Given the description of an element on the screen output the (x, y) to click on. 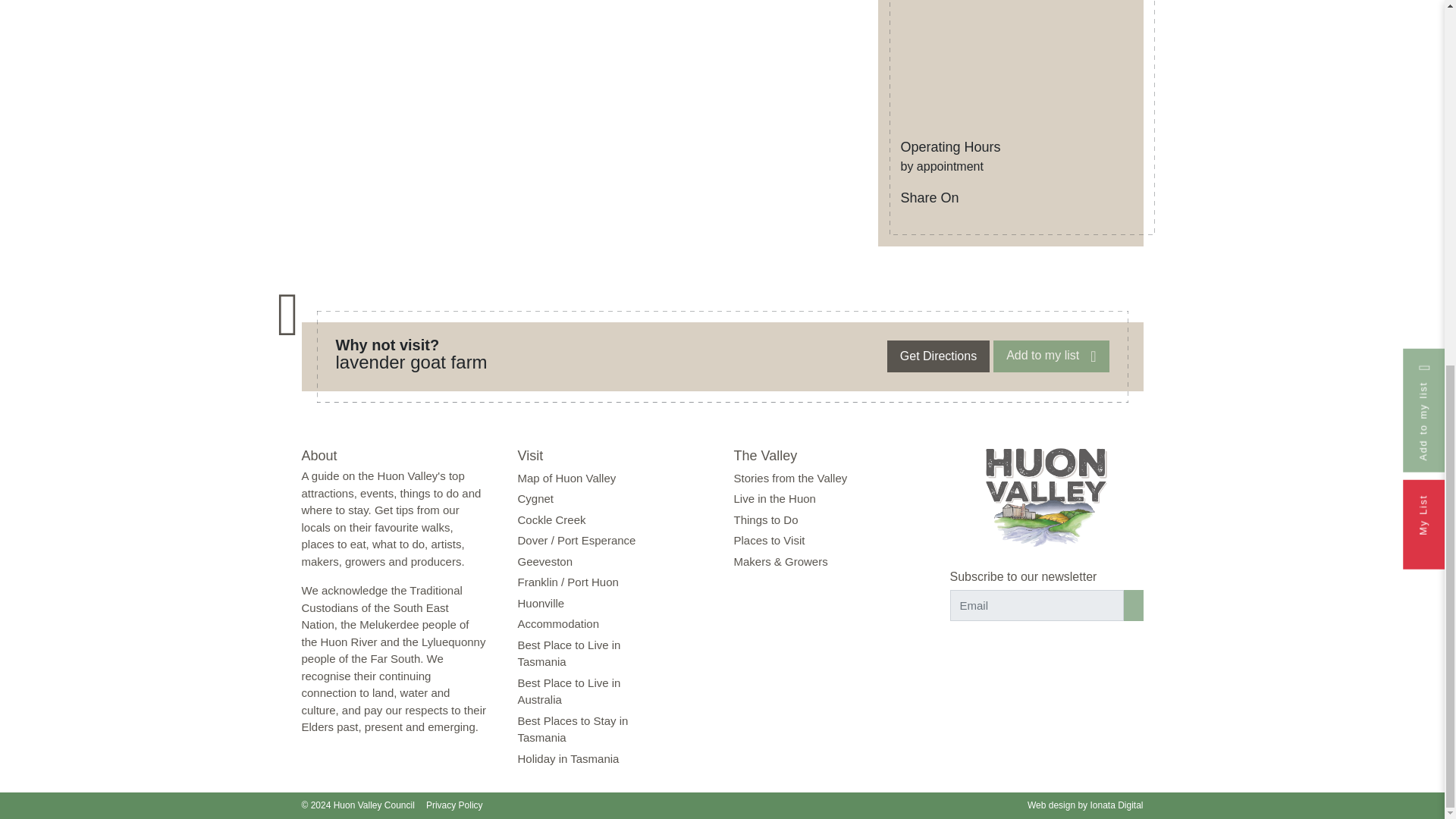
Add to my list (1050, 356)
Map of Huon Valley (565, 477)
Geeveston (544, 561)
Huonville (540, 603)
Cygnet (534, 498)
Cockle Creek (550, 519)
Get Directions (938, 356)
